Given the description of an element on the screen output the (x, y) to click on. 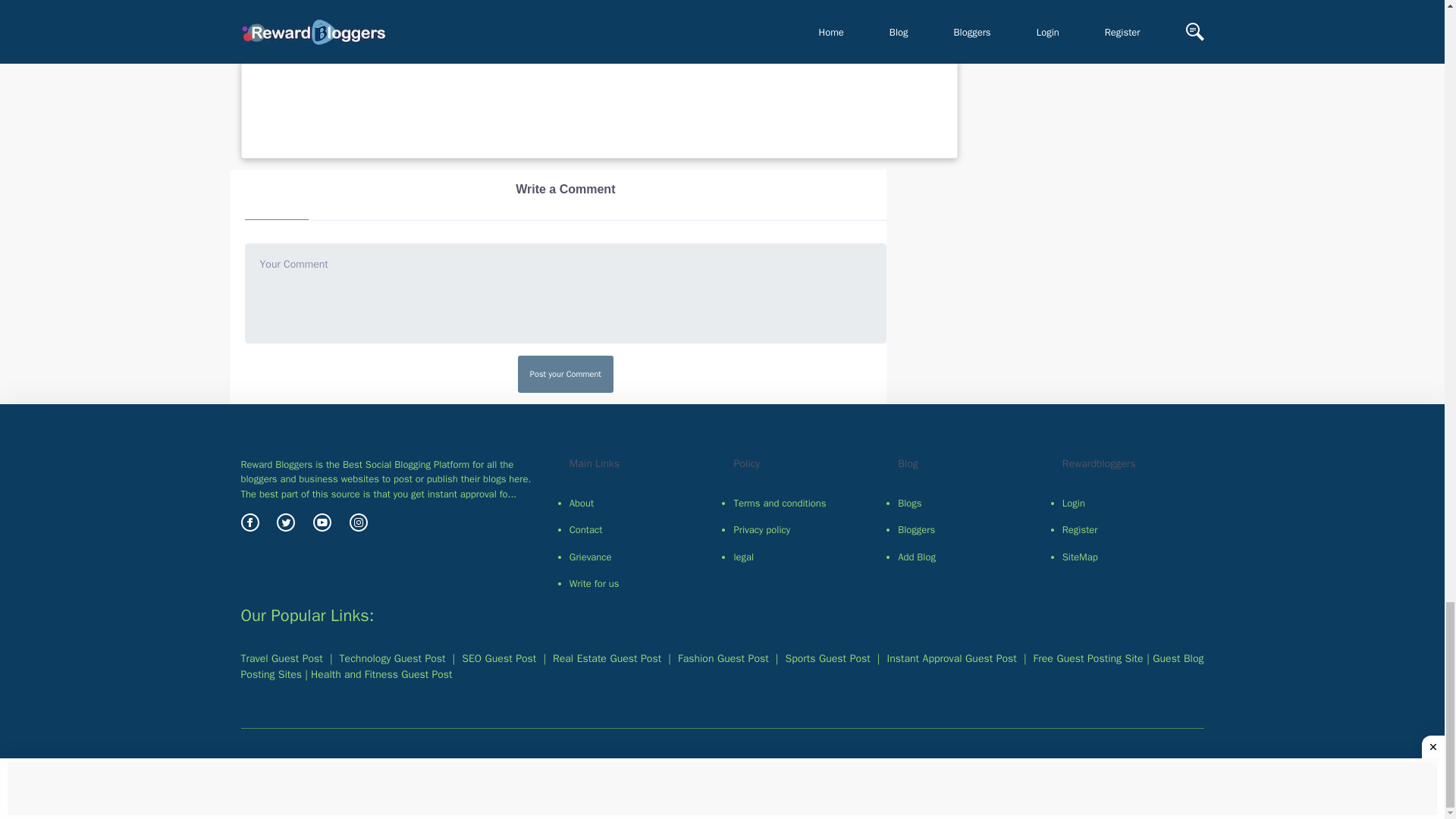
Technology Guest Post (392, 658)
Wicked For You Club (475, 50)
Instant Approval Guest Post (951, 658)
Post your Comment (565, 374)
Travel Guest Post (282, 658)
SEO Guest Post (498, 658)
Real Estate Guest Post (607, 658)
Free Guest Posting Site (1087, 658)
Instant Approval Guest Post (381, 674)
Guest Blog Posting WebSite (722, 665)
